Given the description of an element on the screen output the (x, y) to click on. 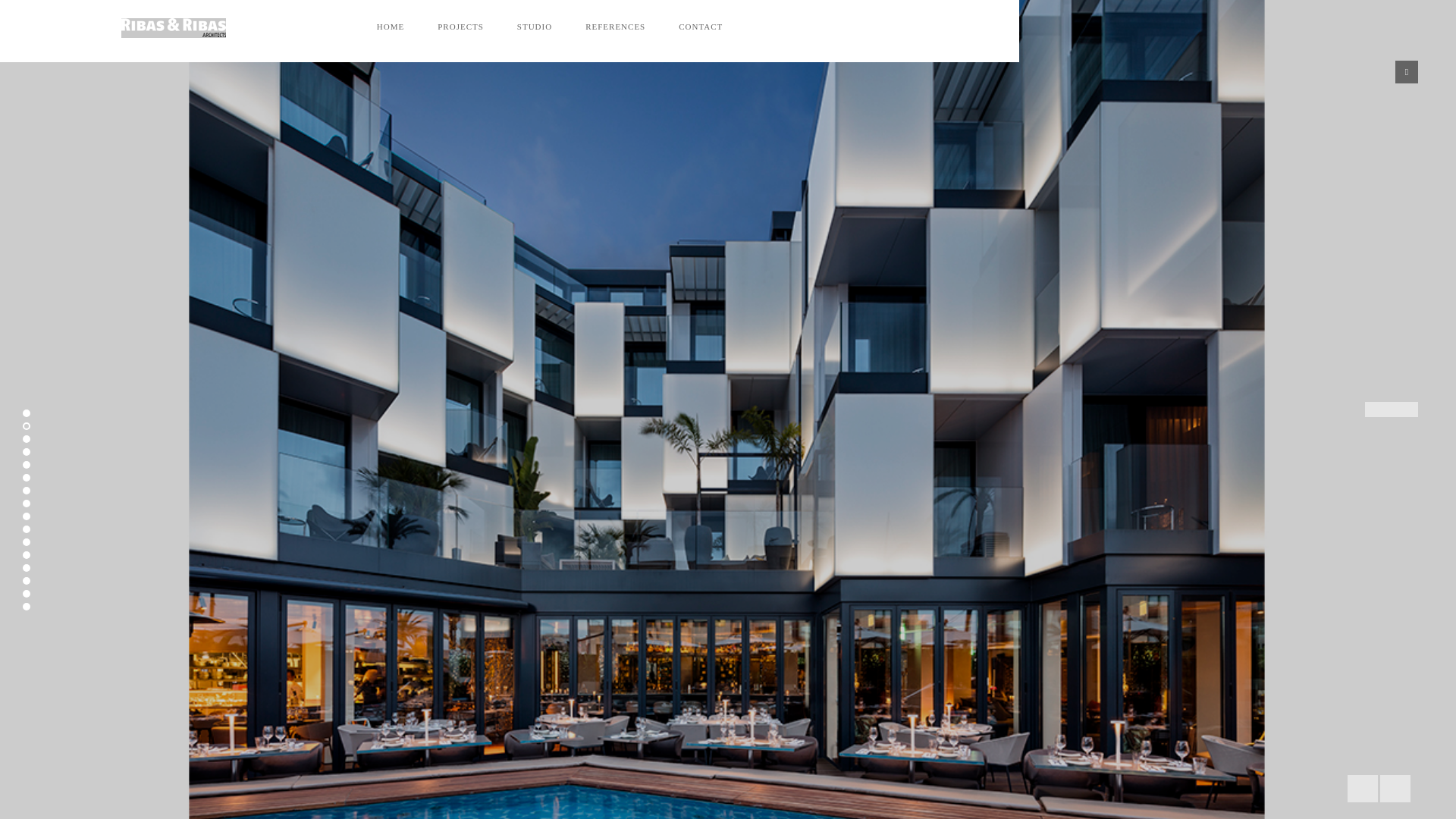
Eng (803, 27)
PROJECTS (460, 26)
HOME (389, 26)
Instagram Ribas (765, 27)
